Given the description of an element on the screen output the (x, y) to click on. 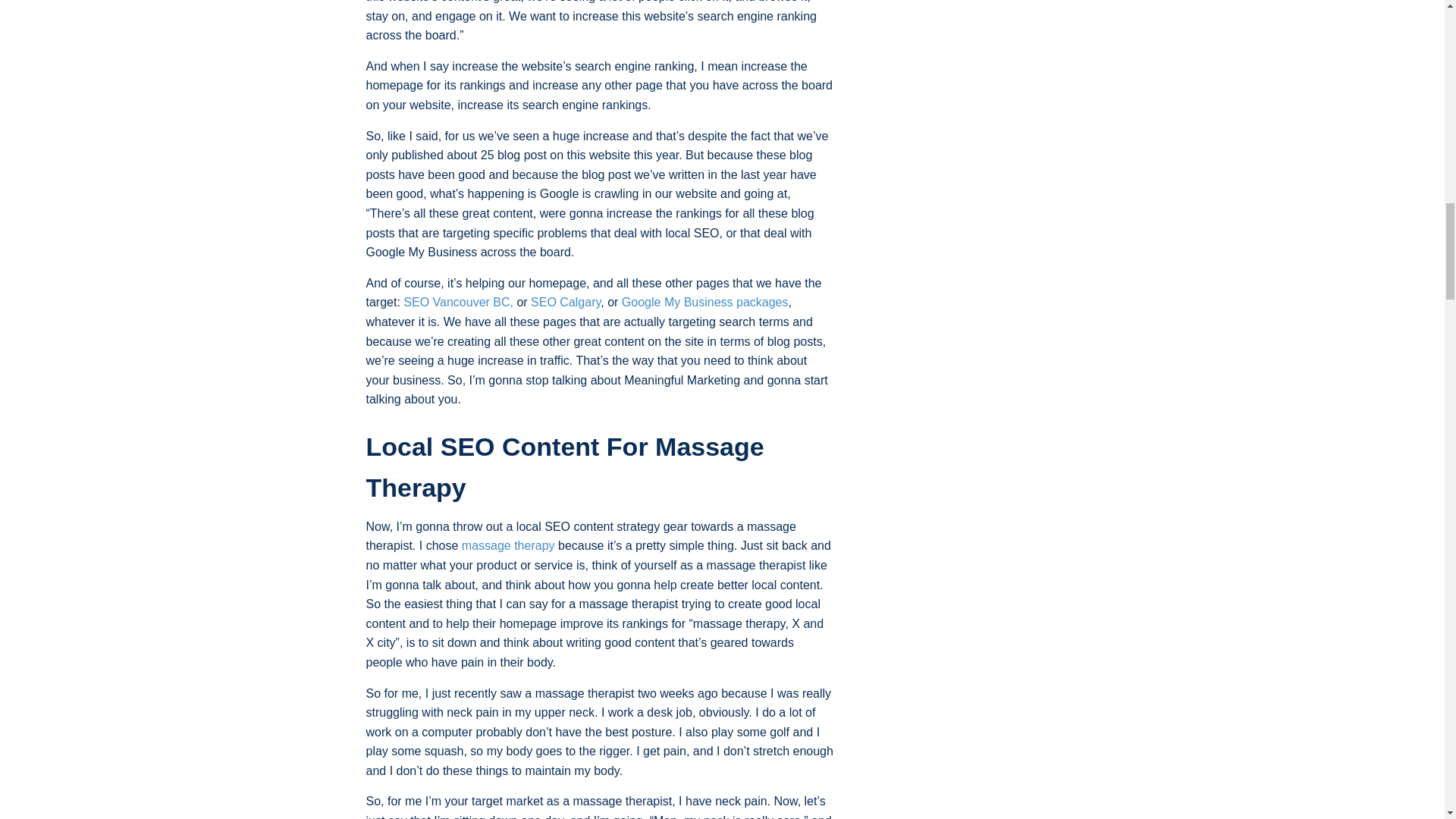
SEO Calgary (565, 301)
massage therapy (507, 545)
SEO Vancouver BC, (458, 301)
Google My Business packages (705, 301)
